Given the description of an element on the screen output the (x, y) to click on. 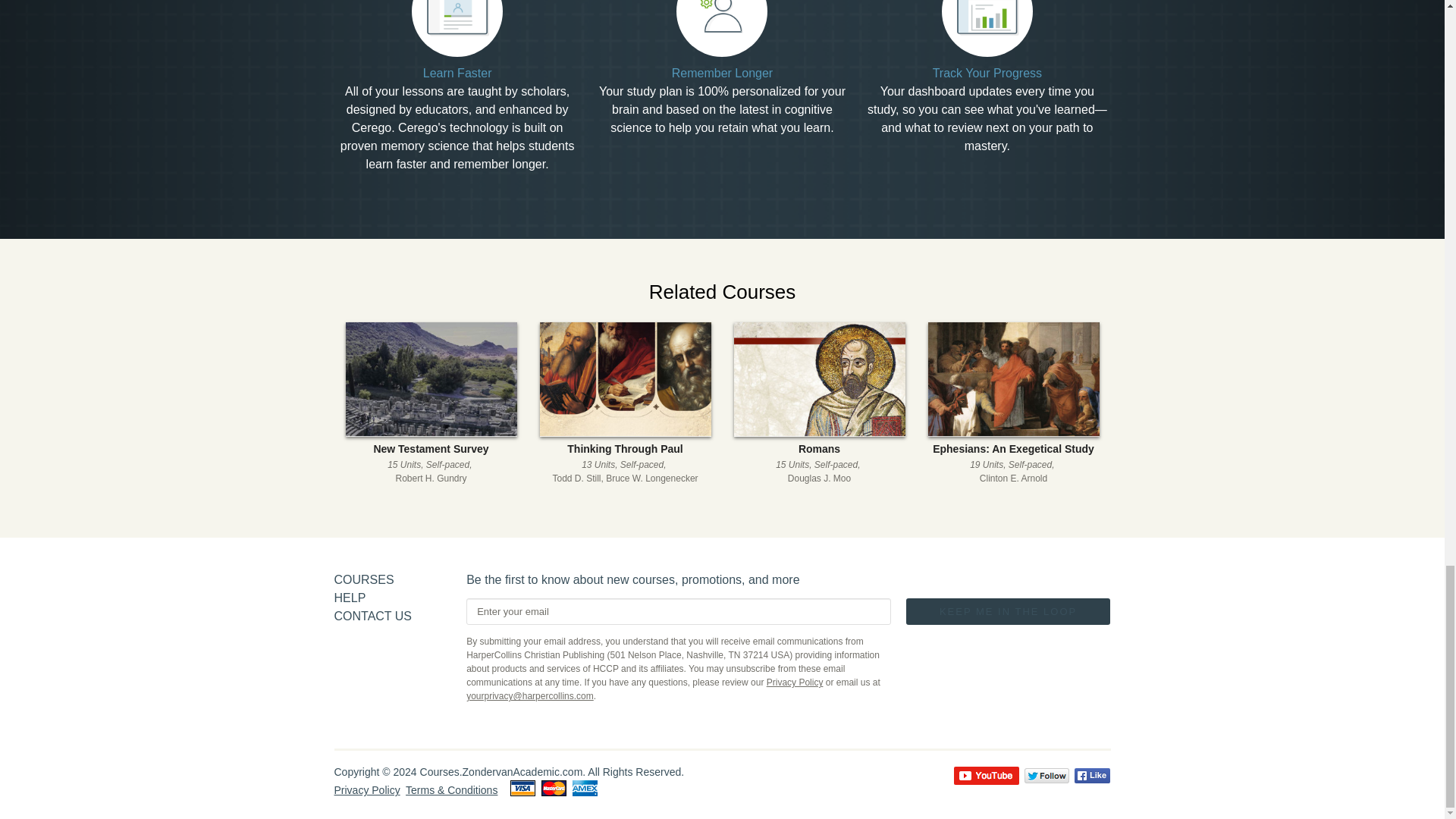
COURSES (363, 579)
Privacy Policy (365, 789)
KEEP ME IN THE LOOP (1007, 611)
Subscribe on YouTube (986, 775)
Follow on Facebook (818, 403)
CONTACT US (1091, 775)
Privacy Policy (372, 615)
